Given the description of an element on the screen output the (x, y) to click on. 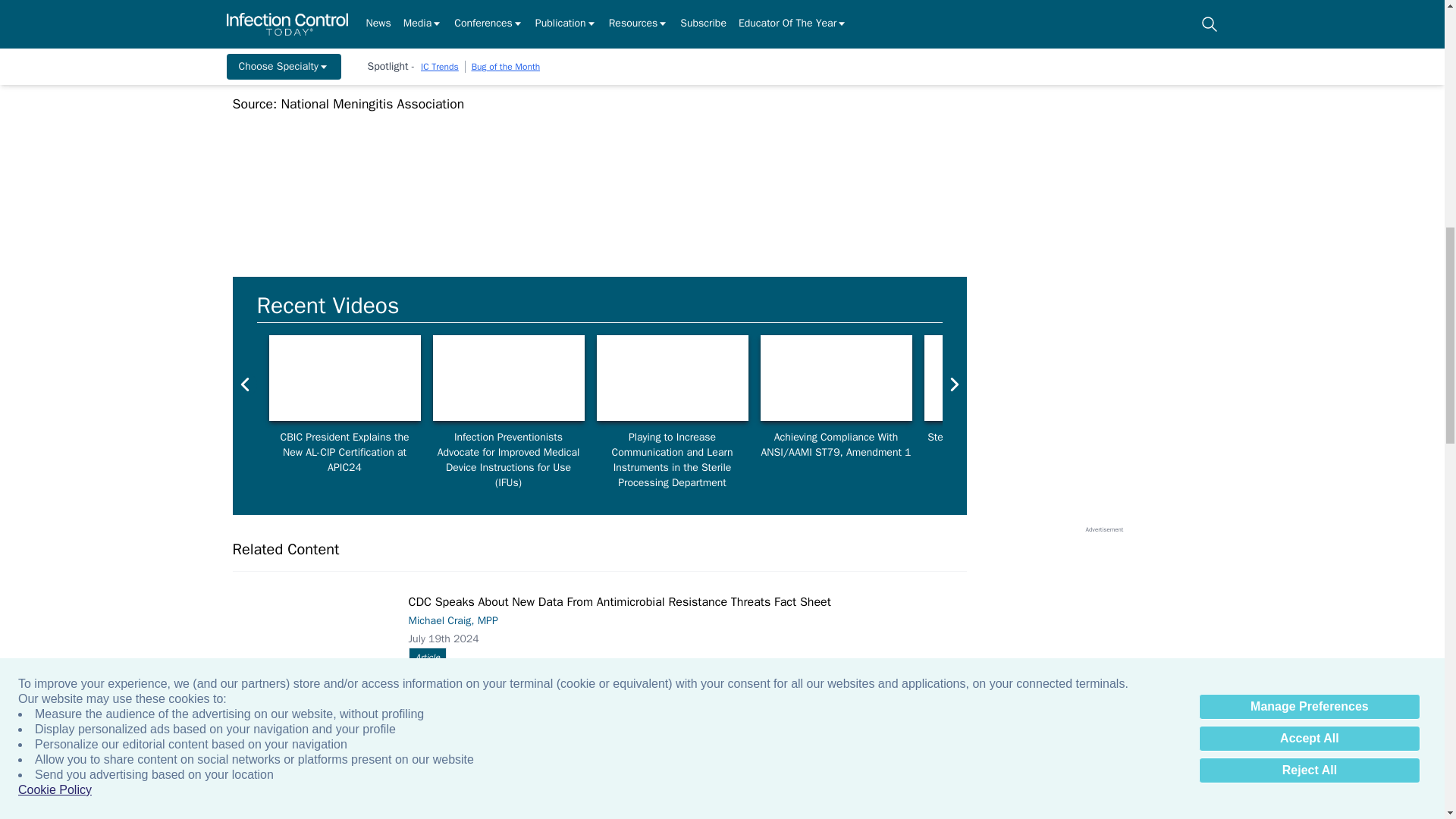
Jill Holdsworth, MS, CIC, FAPIC, CRCST, NREMT, CHL (835, 377)
